Given the description of an element on the screen output the (x, y) to click on. 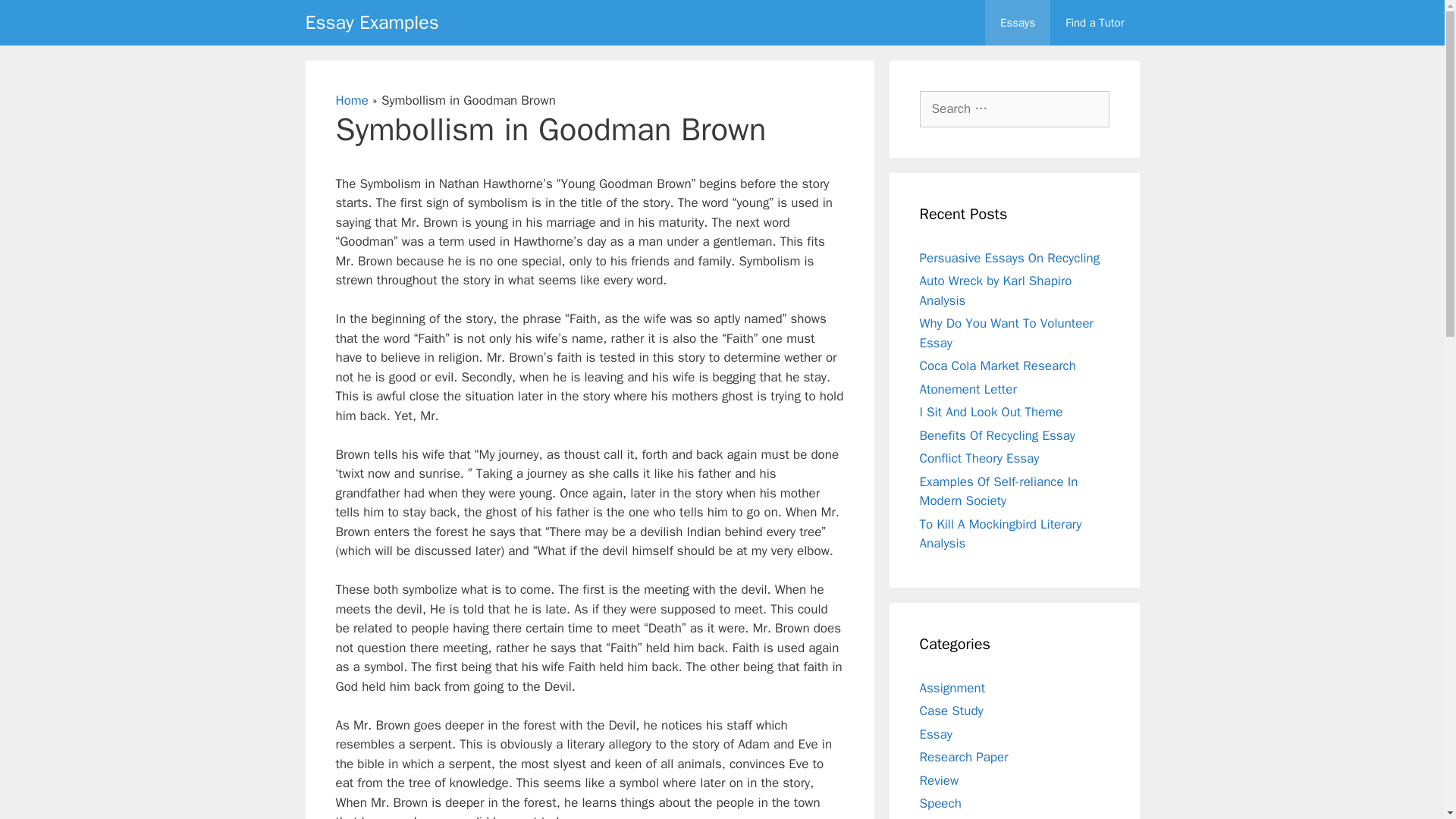
Find a Tutor (1093, 22)
Essays (1017, 22)
Home (351, 100)
Essay Examples (371, 22)
Search for: (1013, 108)
